Given the description of an element on the screen output the (x, y) to click on. 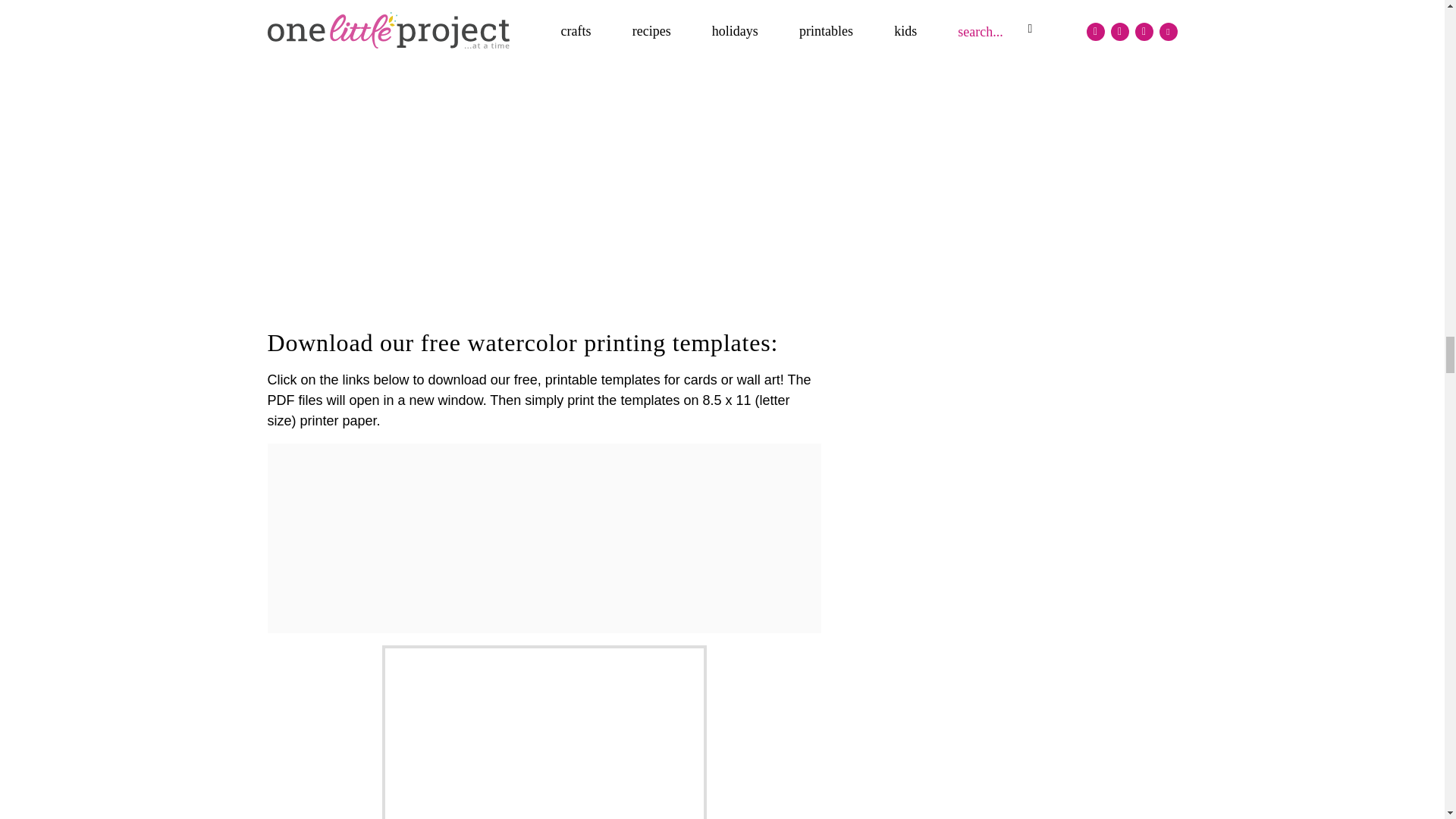
Enjoy the Little Things - Free Printable Watercolor Template (543, 732)
